Given the description of an element on the screen output the (x, y) to click on. 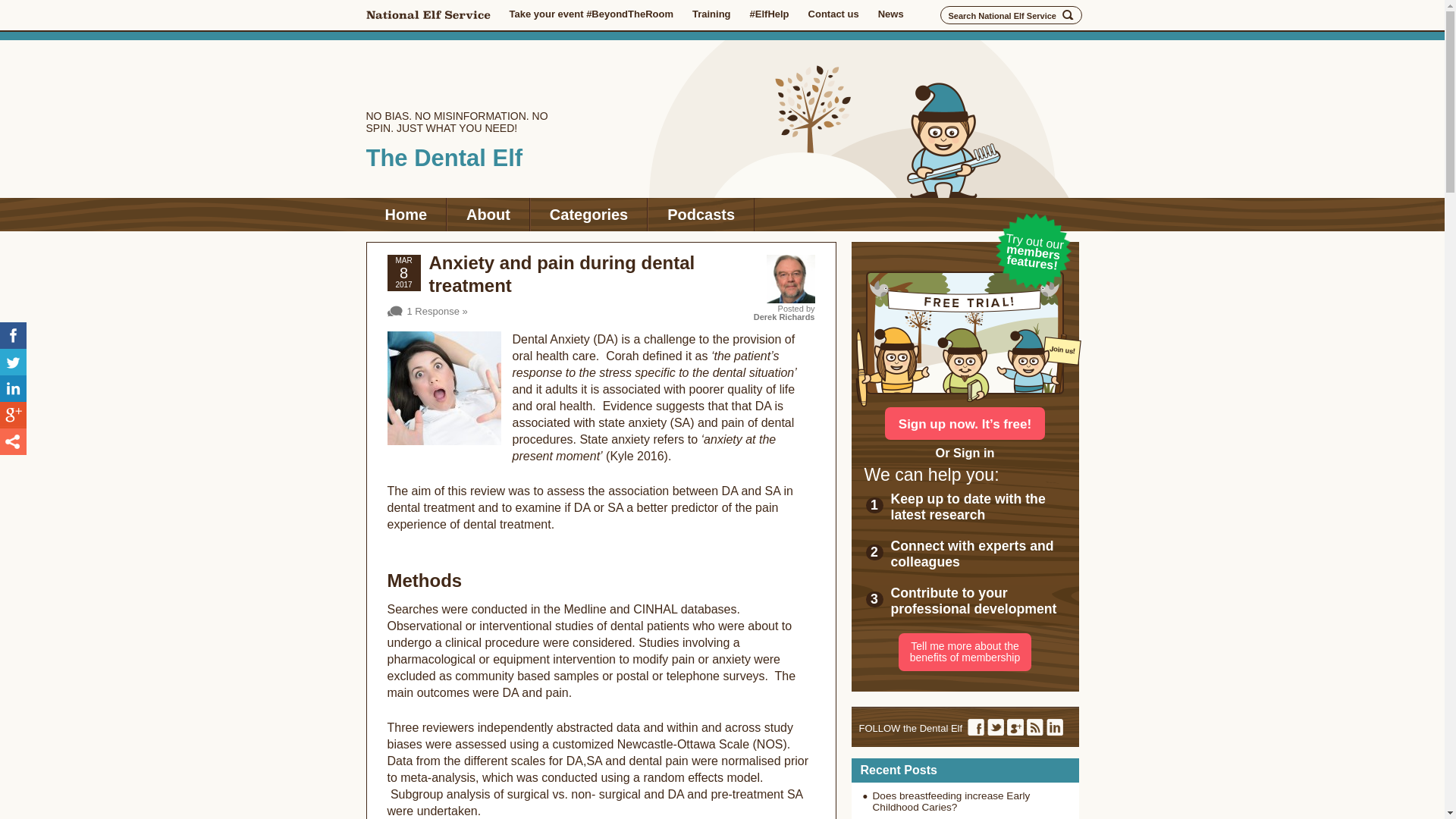
Categories (588, 214)
Share via sharethis (13, 441)
Contact us (833, 13)
About (487, 214)
Posts by Derek Richards (784, 316)
Tweet this on Twitter (13, 361)
Home (405, 214)
Search (1068, 14)
Share on LinkedIn (13, 388)
